Given the description of an element on the screen output the (x, y) to click on. 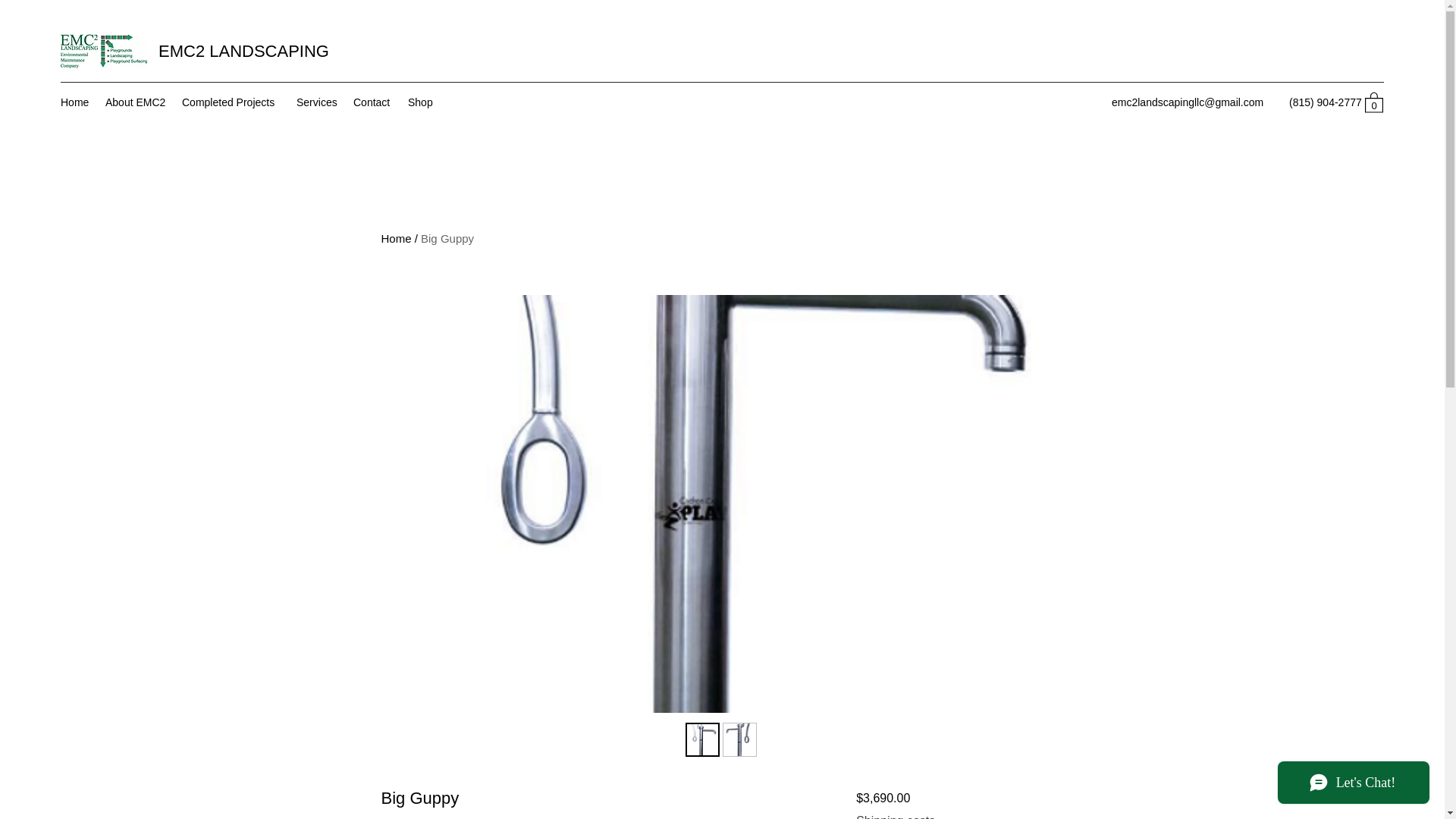
About EMC2 (135, 101)
Shop (420, 101)
Shipping costs (895, 816)
Contact (373, 101)
Home (74, 101)
Home (395, 237)
EMC2 LANDSCAPING (243, 50)
Completed Projects (231, 101)
Big Guppy (447, 237)
Services (317, 101)
